Given the description of an element on the screen output the (x, y) to click on. 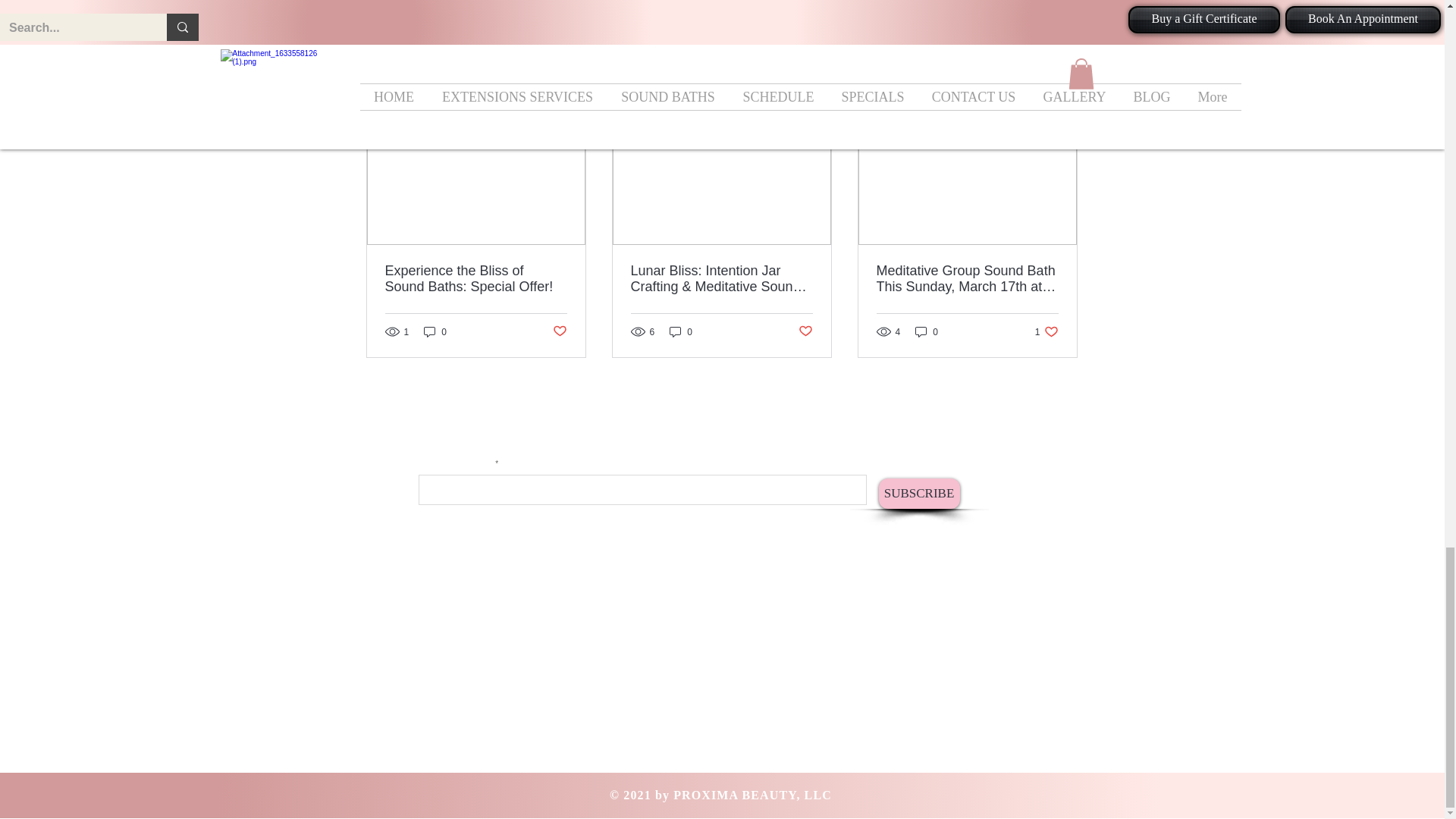
0 (435, 331)
Experience the Bliss of Sound Baths: Special Offer! (476, 278)
See All (1061, 95)
Post not marked as liked (558, 331)
Post not marked as liked (995, 12)
